Given the description of an element on the screen output the (x, y) to click on. 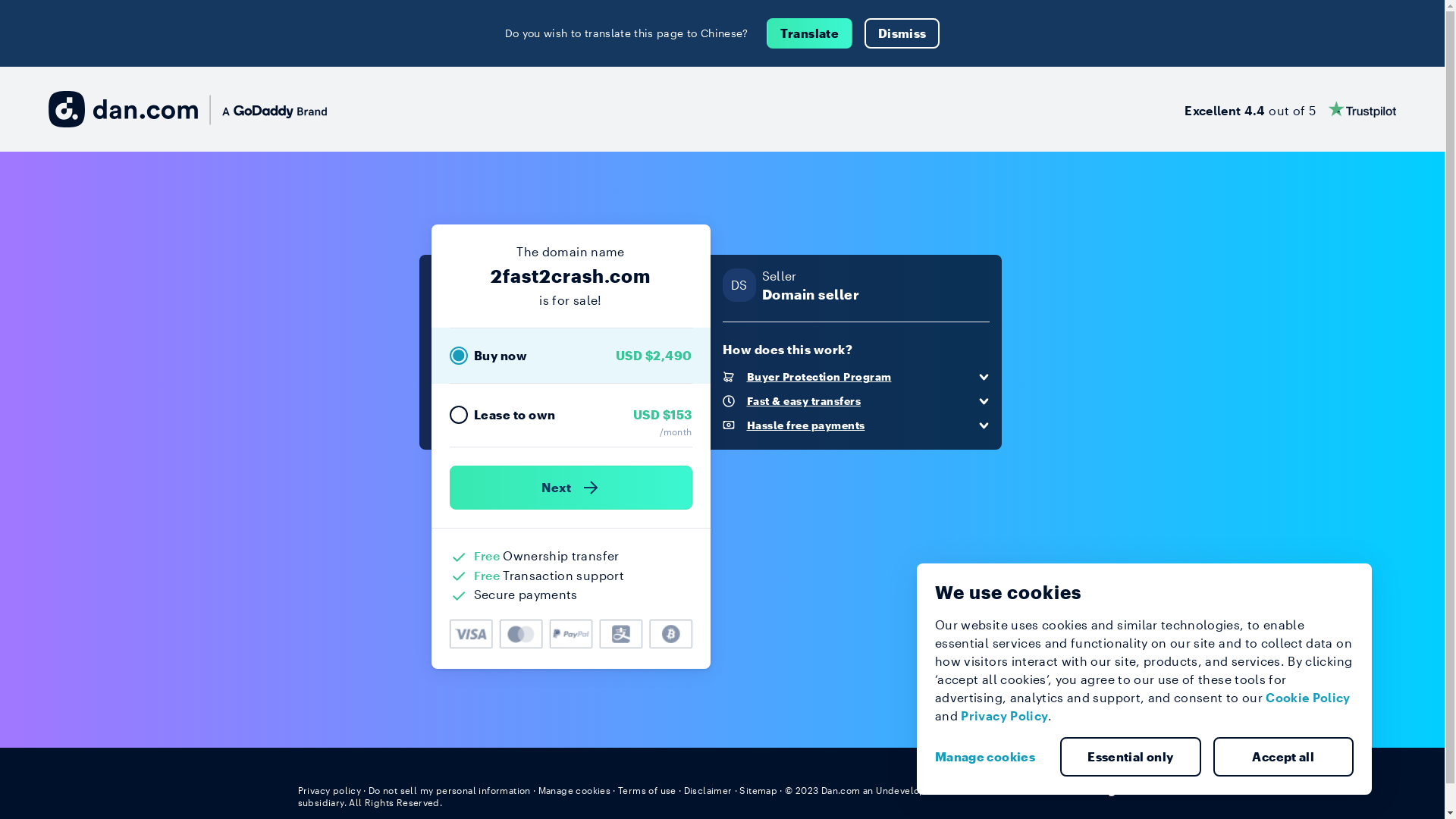
Accept all Element type: text (1283, 756)
Do not sell my personal information Element type: text (449, 789)
Manage cookies Element type: text (574, 790)
English Element type: text (1119, 789)
Cookie Policy Element type: text (1307, 697)
Privacy policy Element type: text (328, 789)
Dismiss Element type: text (901, 33)
Terms of use Element type: text (647, 789)
Essential only Element type: text (1130, 756)
Manage cookies Element type: text (991, 756)
Next
) Element type: text (569, 487)
Privacy Policy Element type: text (1004, 715)
Translate Element type: text (809, 33)
Sitemap Element type: text (758, 789)
Disclaimer Element type: text (708, 789)
Excellent 4.4 out of 5 Element type: text (1290, 109)
